Given the description of an element on the screen output the (x, y) to click on. 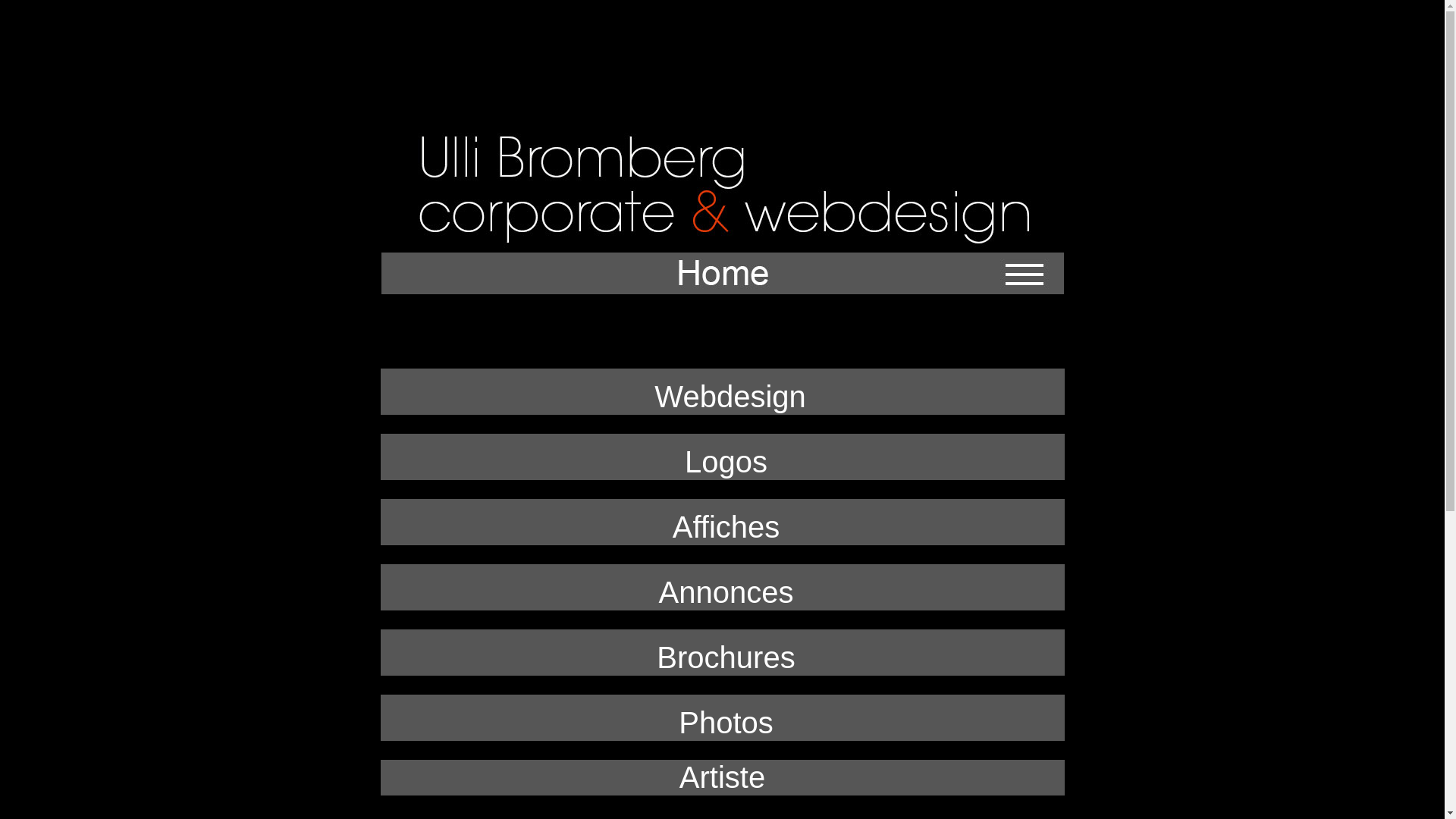
Affiches Element type: text (722, 526)
Photos Element type: text (722, 722)
Webdesign Element type: text (729, 396)
Annonces Element type: text (722, 591)
Artiste Element type: text (722, 776)
Logos Element type: text (722, 461)
Brochures Element type: text (721, 657)
